Given the description of an element on the screen output the (x, y) to click on. 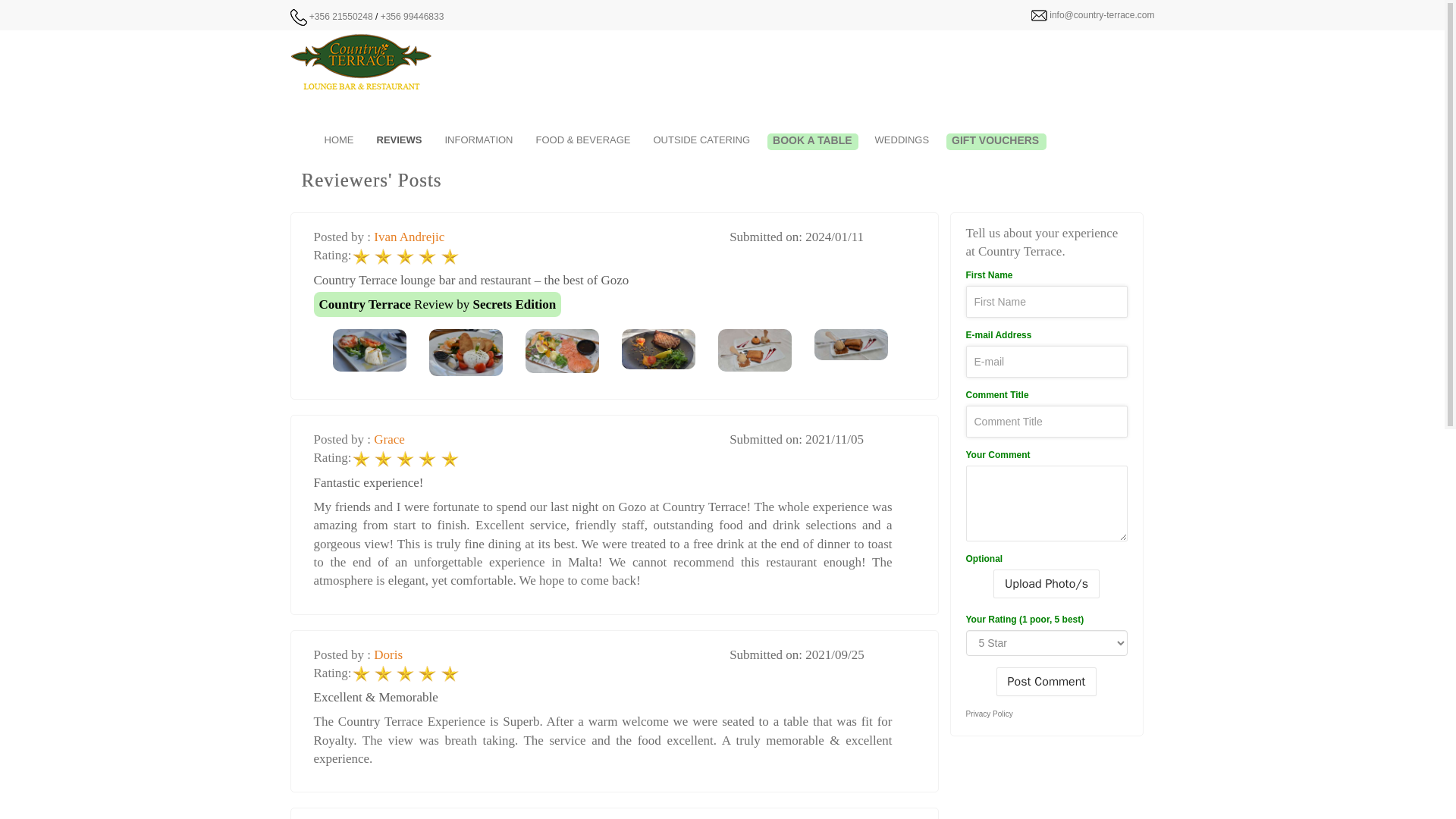
REVIEWS (399, 140)
HOME (339, 140)
BOOK A TABLE (812, 140)
OUTSIDE CATERING (701, 140)
INFORMATION (478, 140)
WEDDINGS (901, 140)
